Given the description of an element on the screen output the (x, y) to click on. 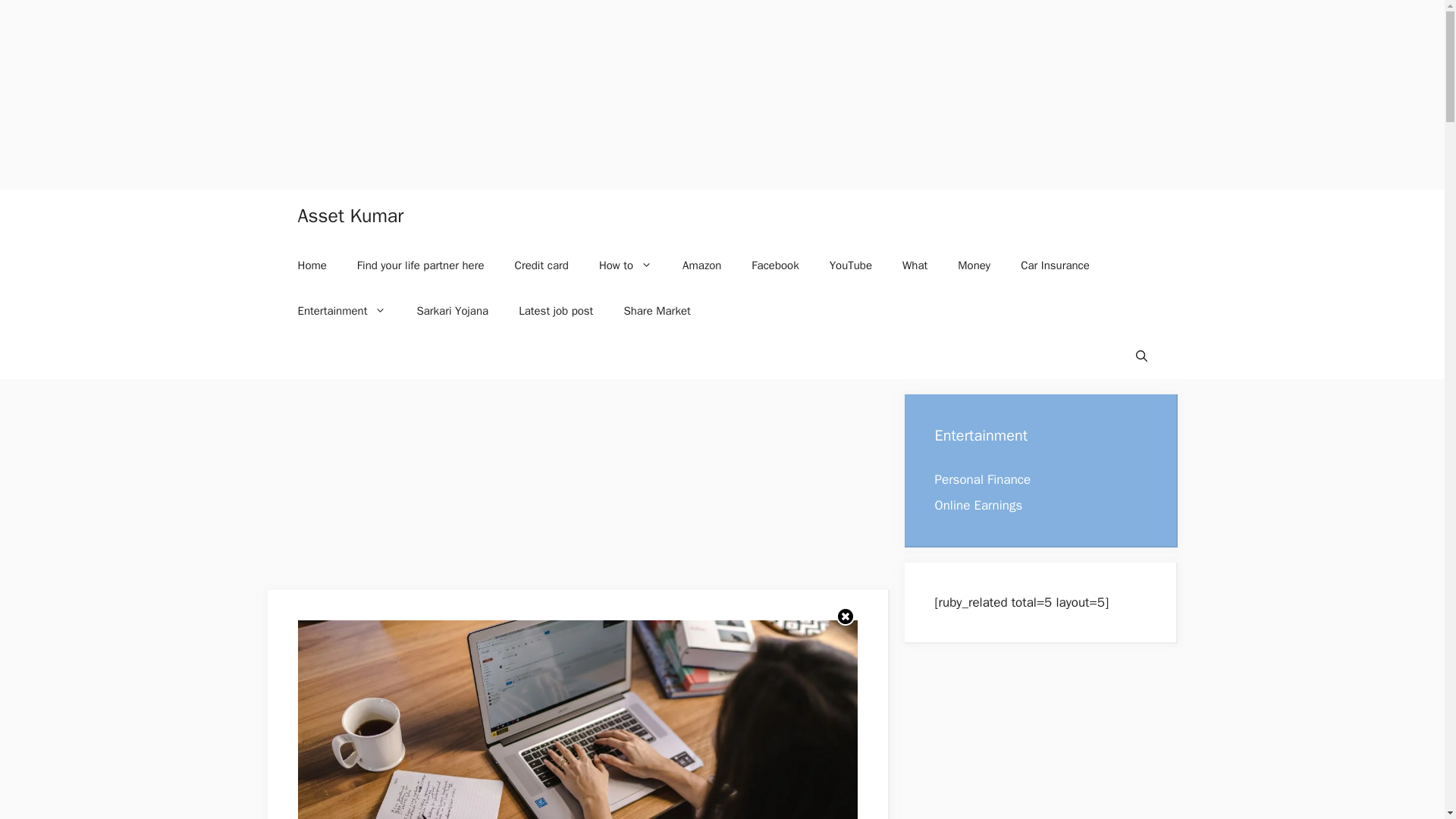
Credit card (541, 265)
Personal Finance (982, 479)
Entertainment (341, 310)
Facebook (774, 265)
How to (624, 265)
YouTube (849, 265)
Share Market (656, 310)
Home (311, 265)
Money (974, 265)
Find your life partner here (420, 265)
Latest job post (555, 310)
Asset Kumar (350, 215)
Online Earnings (978, 505)
Car Insurance (1055, 265)
Sarkari Yojana (452, 310)
